Given the description of an element on the screen output the (x, y) to click on. 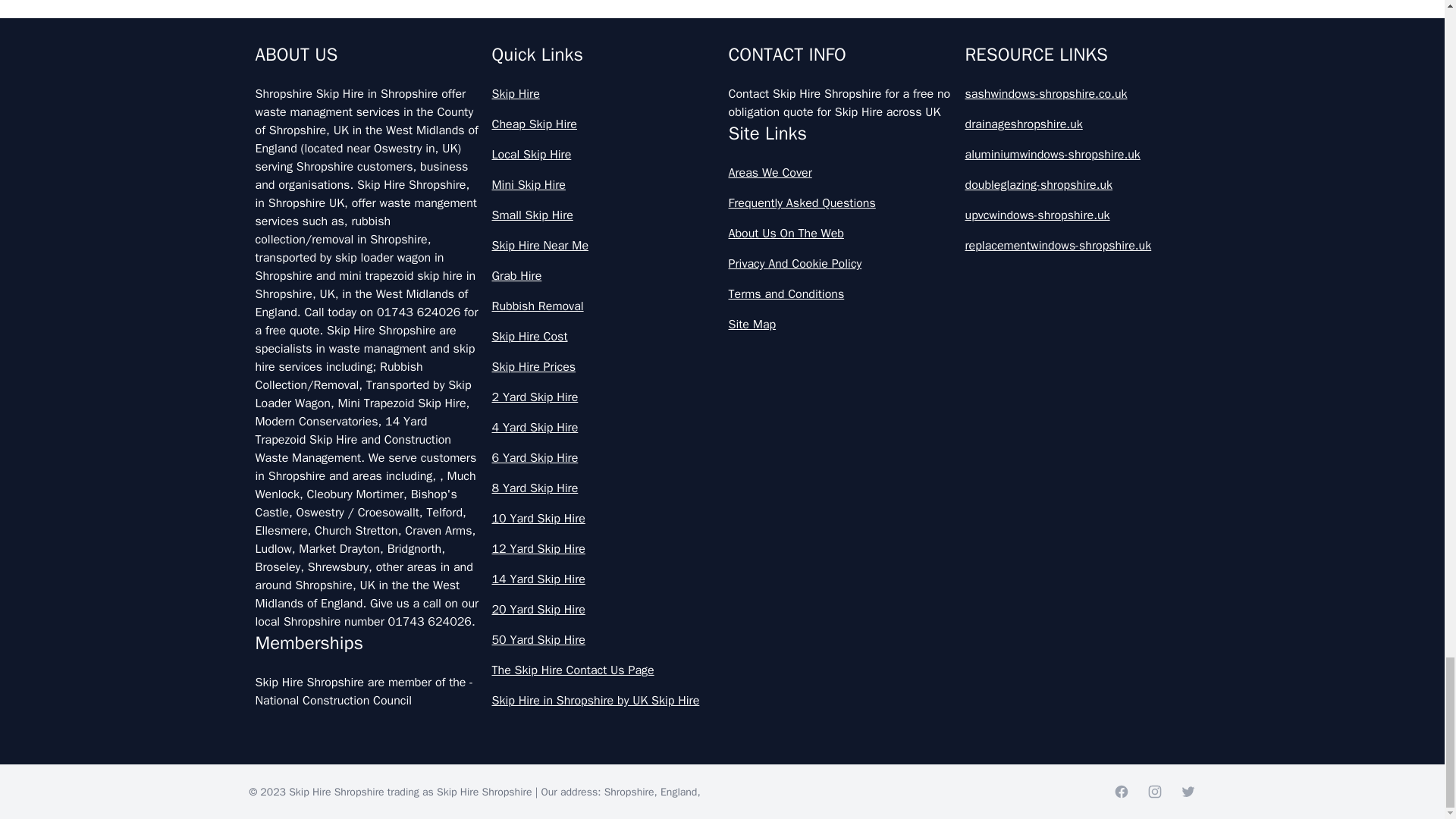
Cheap Skip Hire (604, 124)
sashwindows-shropshire.co.uk (1076, 94)
Rubbish Removal (604, 306)
replacementwindows-shropshire.uk (1076, 245)
Grab Hire (604, 275)
aluminiumwindows-shropshire.uk (1076, 154)
Mini Skip Hire (604, 185)
Small Skip Hire (604, 215)
National Construction Council (333, 700)
Site Map (840, 324)
